Given the description of an element on the screen output the (x, y) to click on. 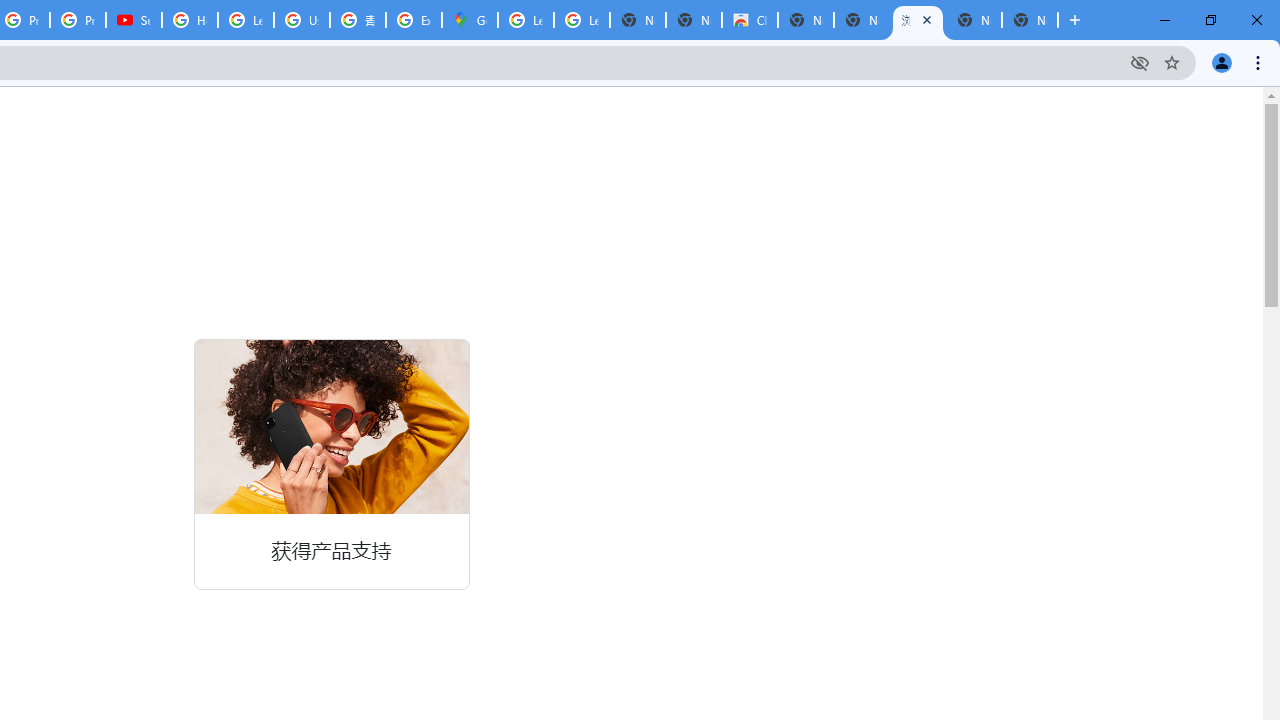
Subscriptions - YouTube (134, 20)
Explore new street-level details - Google Maps Help (413, 20)
New Tab (1030, 20)
Chrome Web Store (749, 20)
